Given the description of an element on the screen output the (x, y) to click on. 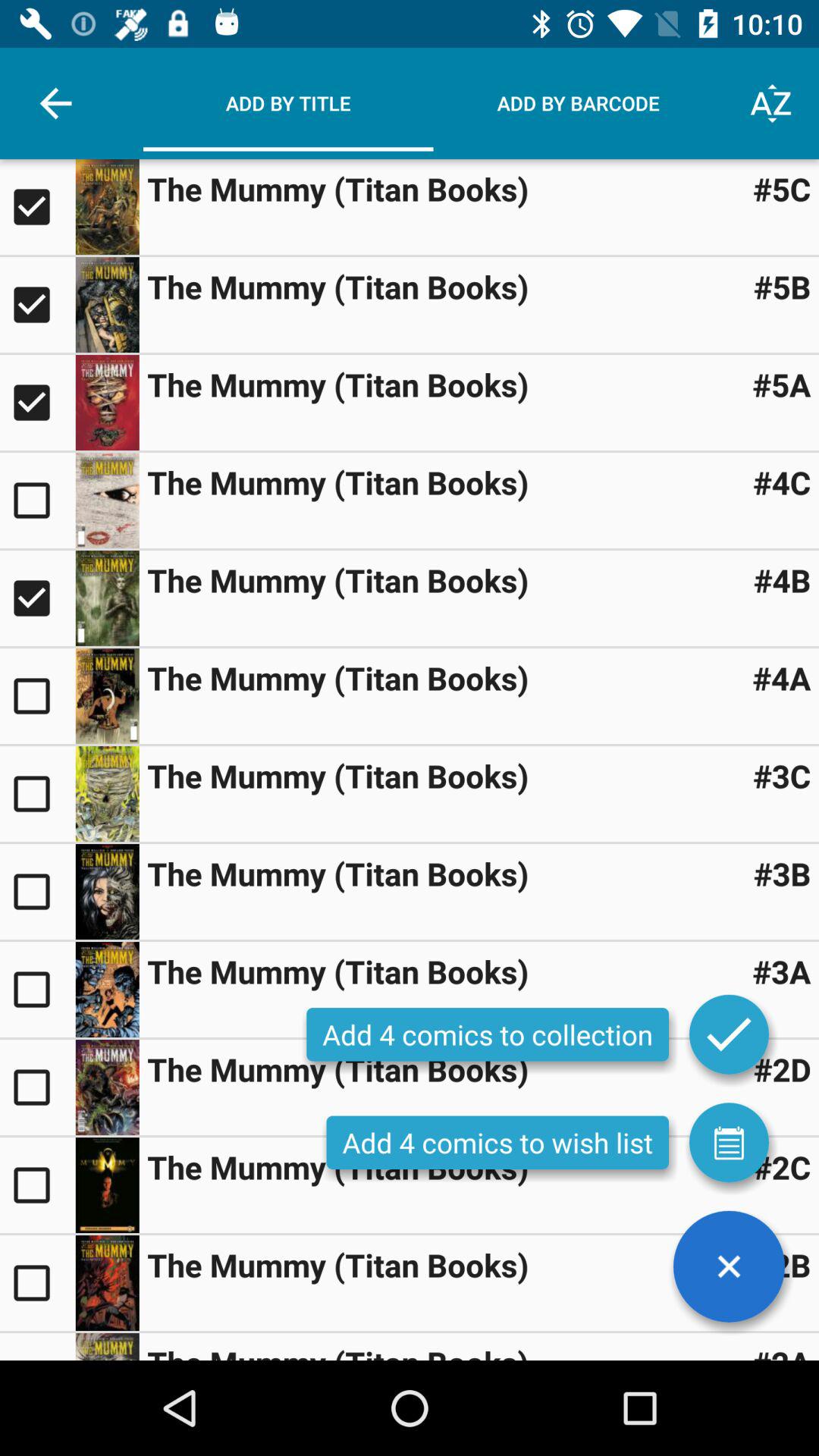
select item (107, 989)
